Given the description of an element on the screen output the (x, y) to click on. 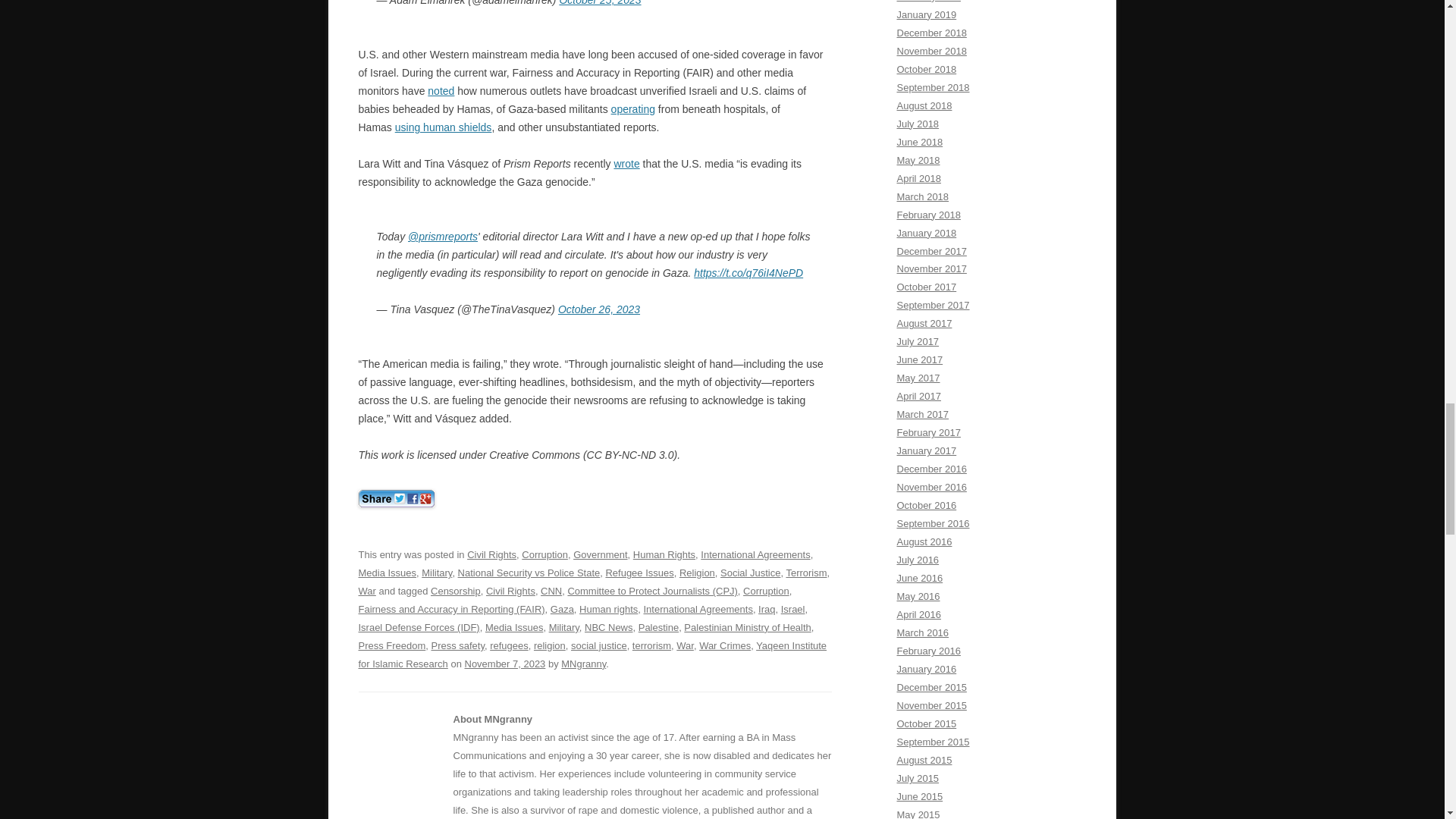
noted (441, 91)
operating (633, 109)
October 25, 2023 (599, 2)
6:30 am (505, 663)
View all posts by MNgranny (582, 663)
wrote (625, 163)
using human shields (443, 127)
